Given the description of an element on the screen output the (x, y) to click on. 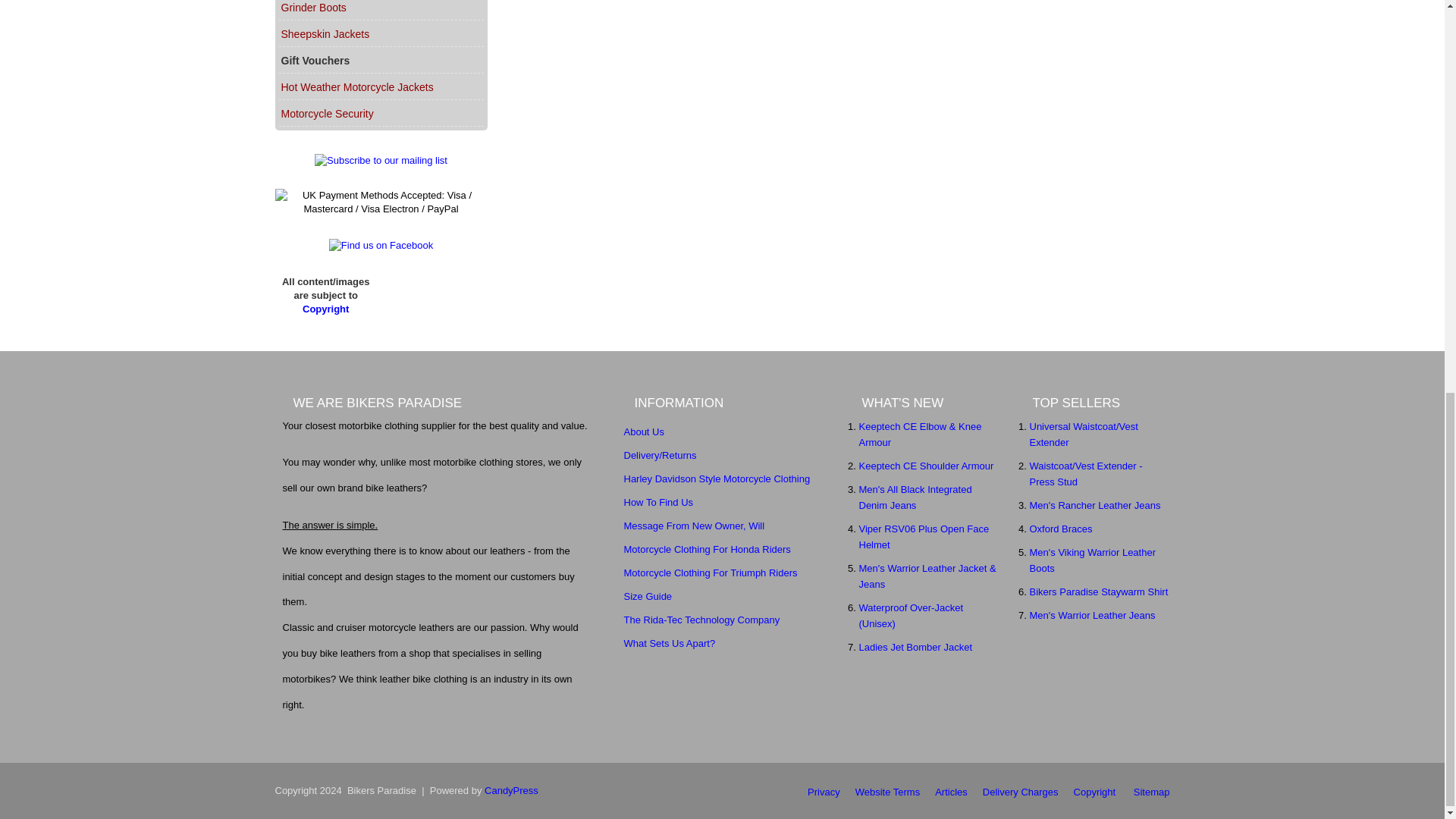
Copyright (1095, 791)
Visit CandyPress (511, 790)
Privacy (824, 791)
Website Terms (888, 791)
Articles (951, 791)
Delivery Charges (1020, 791)
Sitemap (1152, 791)
